Given the description of an element on the screen output the (x, y) to click on. 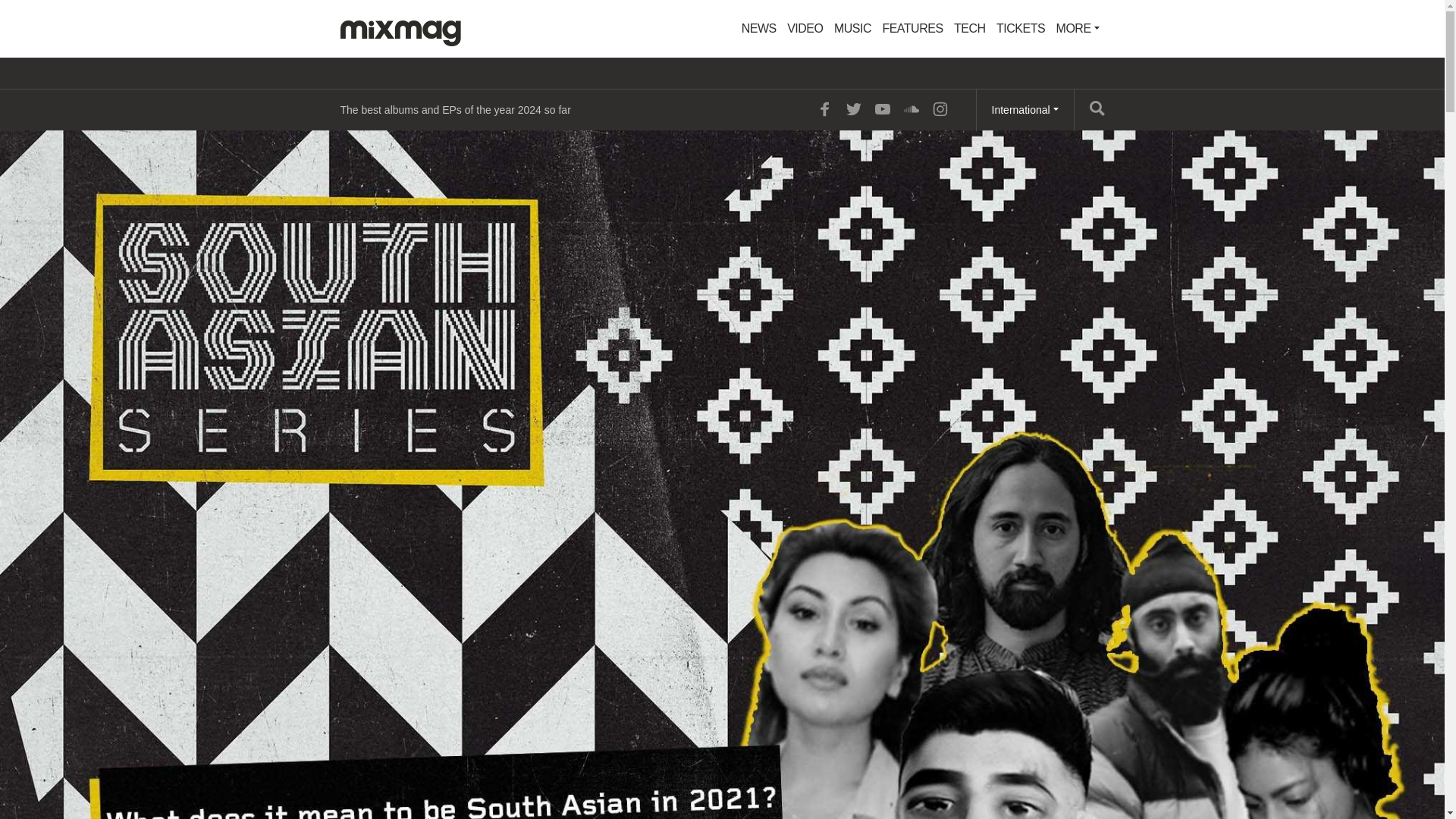
MORE (1078, 28)
FEATURES (911, 28)
TICKETS (1020, 28)
The best albums and EPs of the year 2024 so far (454, 109)
